Given the description of an element on the screen output the (x, y) to click on. 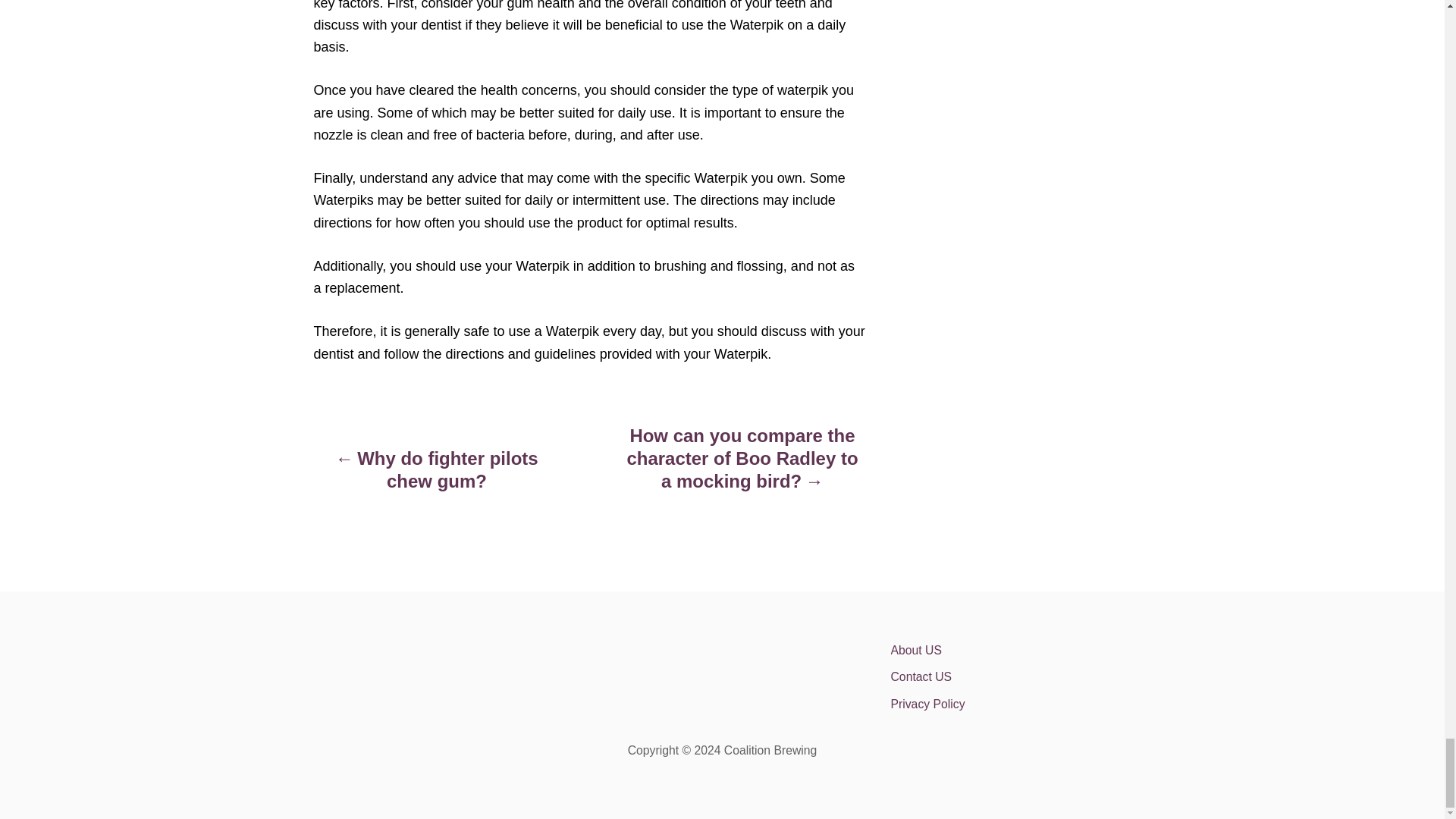
Why do fighter pilots chew gum? (437, 477)
Privacy Policy (1021, 704)
Contact US (1021, 677)
About US (1021, 650)
